Given the description of an element on the screen output the (x, y) to click on. 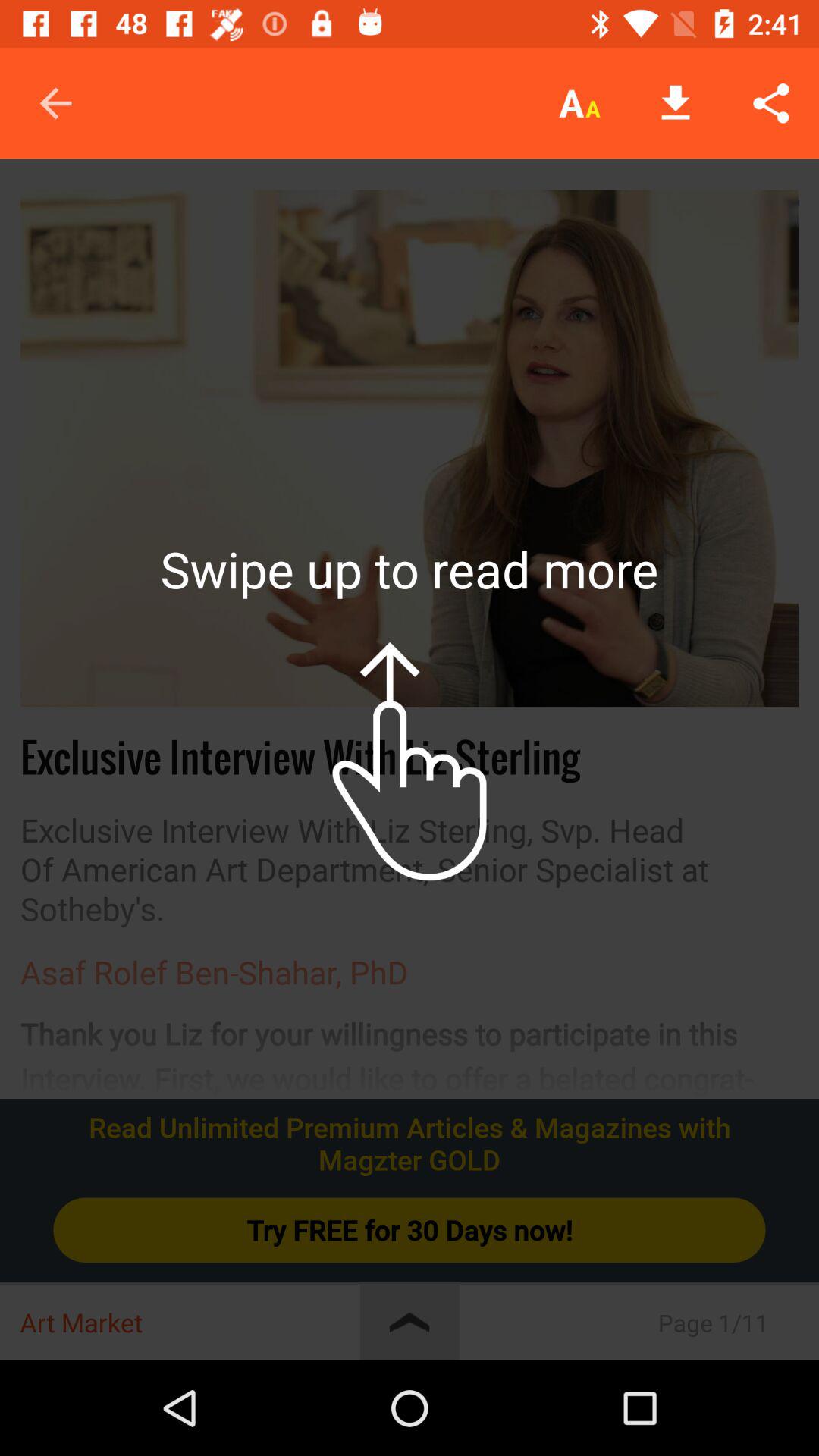
choose the art market item (189, 1322)
